Given the description of an element on the screen output the (x, y) to click on. 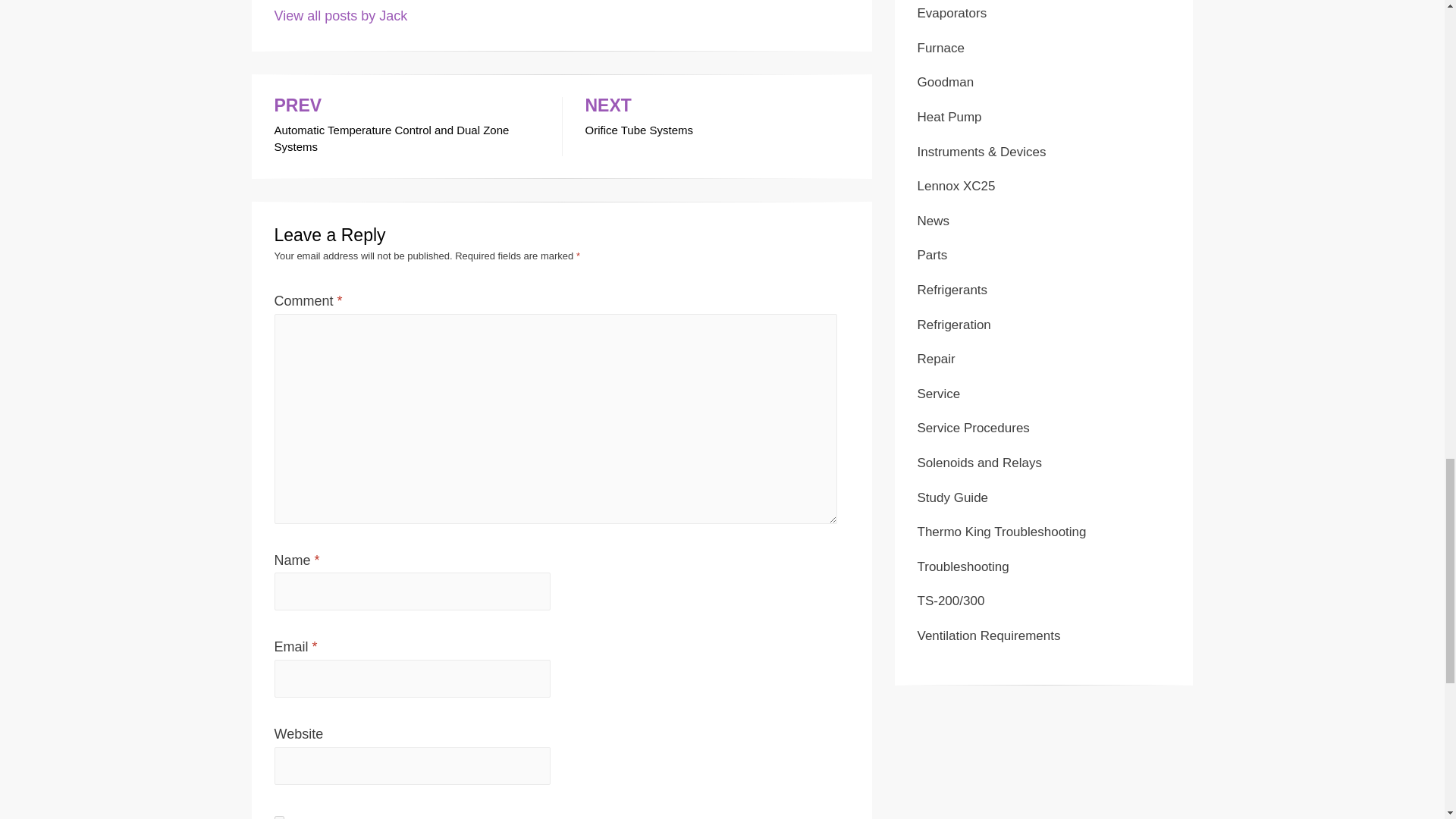
Evaporators (716, 118)
Furnace (952, 12)
Lennox XC25 (940, 47)
News (956, 186)
Heat Pump (406, 126)
yes (933, 220)
View all posts by Jack (949, 116)
